Given the description of an element on the screen output the (x, y) to click on. 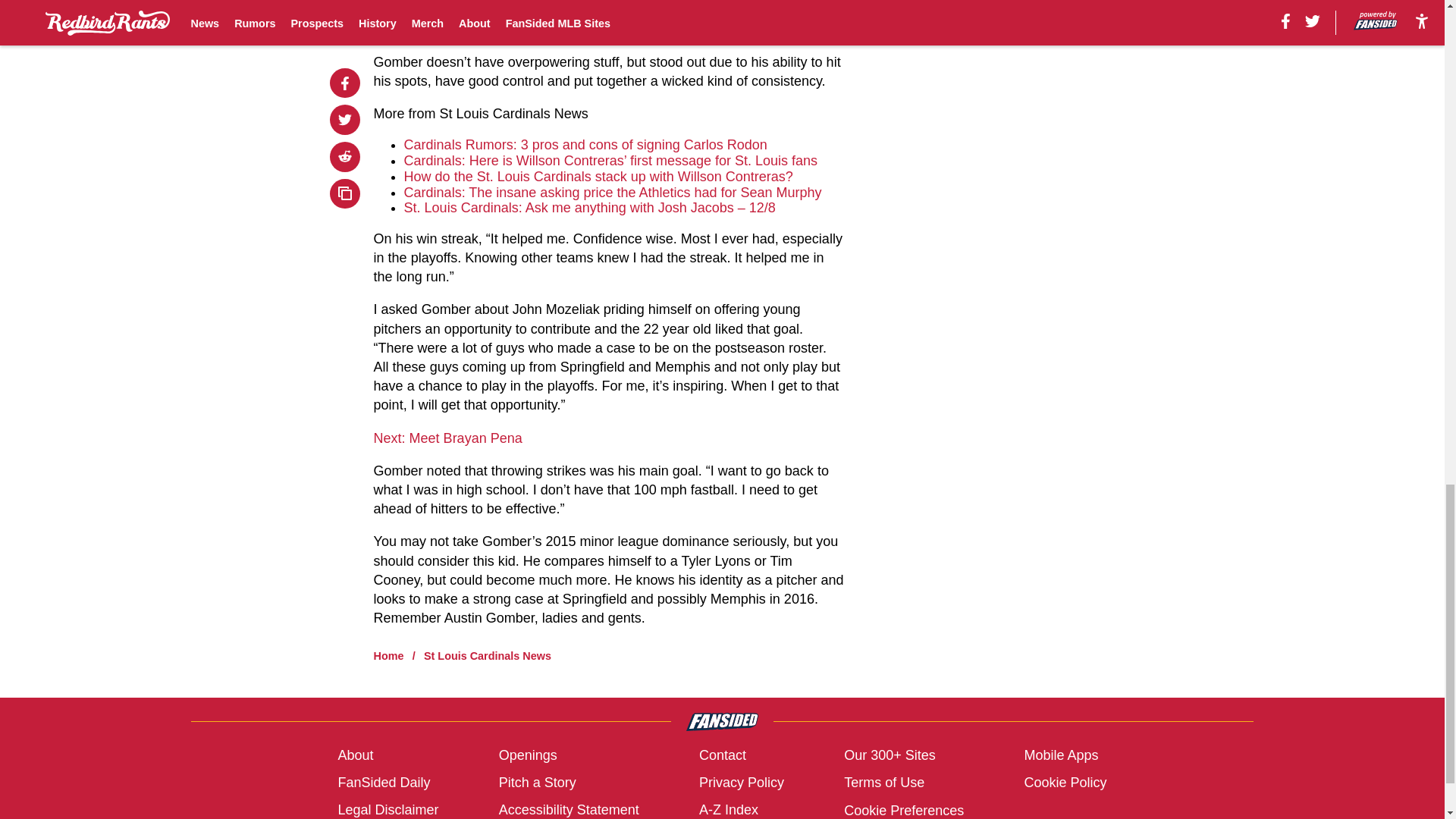
Cardinals Rumors: 3 pros and cons of signing Carlos Rodon (585, 144)
Next: Meet Brayan Pena (448, 437)
St Louis Cardinals News (487, 655)
About (354, 754)
Home (389, 655)
Openings (528, 754)
